Given the description of an element on the screen output the (x, y) to click on. 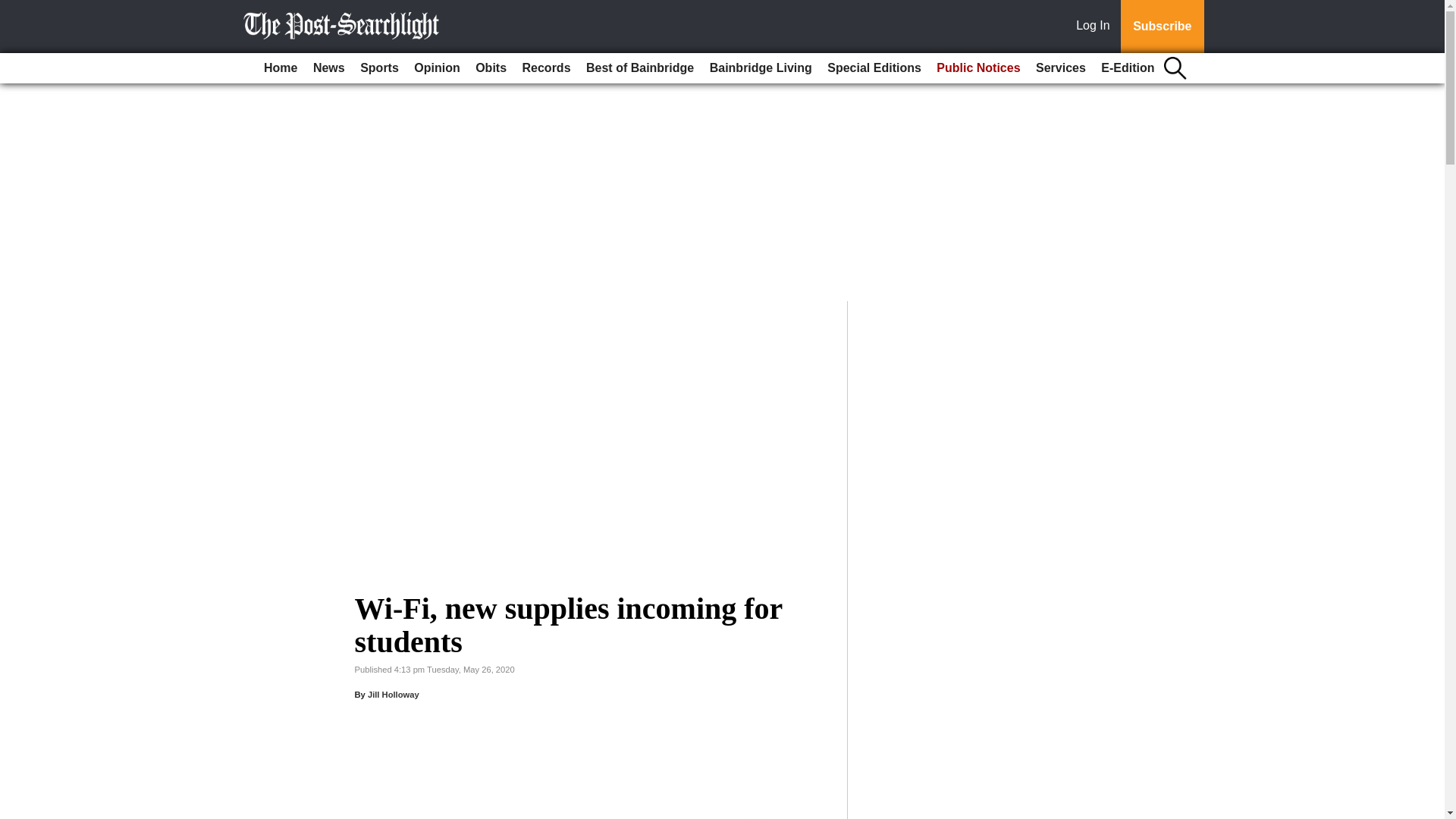
Public Notices (978, 68)
Obits (490, 68)
Special Editions (874, 68)
News (328, 68)
Log In (1095, 26)
E-Edition (1127, 68)
Subscribe (1162, 26)
Bainbridge Living (760, 68)
Services (1060, 68)
Records (546, 68)
Best of Bainbridge (639, 68)
Home (279, 68)
Go (13, 9)
Opinion (436, 68)
Sports (378, 68)
